Given the description of an element on the screen output the (x, y) to click on. 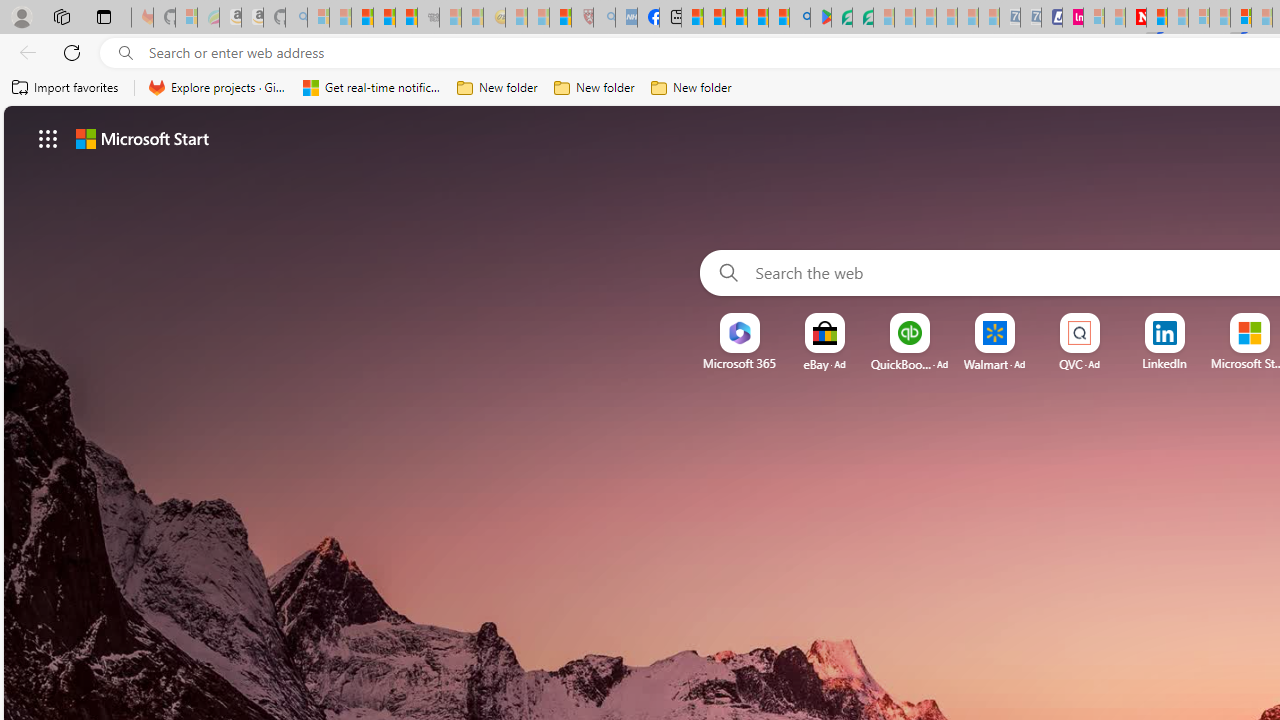
Cheap Hotels - Save70.com - Sleeping (1030, 17)
Microsoft start (142, 138)
Pets - MSN (757, 17)
Microsoft Word - consumer-privacy address update 2.2021 (862, 17)
Microsoft Start - Sleeping (1114, 17)
Local - MSN (560, 17)
